Given the description of an element on the screen output the (x, y) to click on. 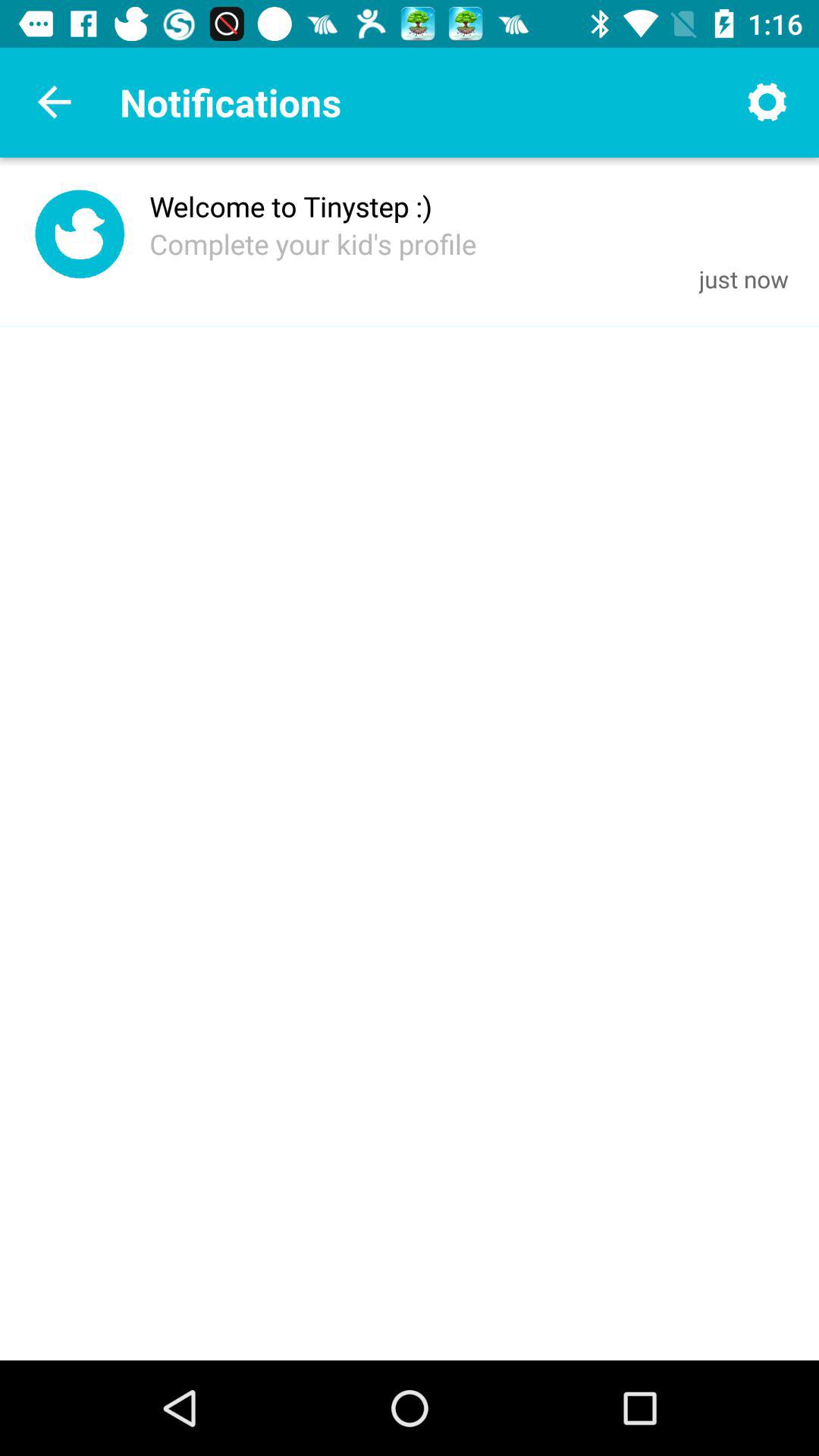
launch item next to the welcome to tinystep :) (79, 237)
